Given the description of an element on the screen output the (x, y) to click on. 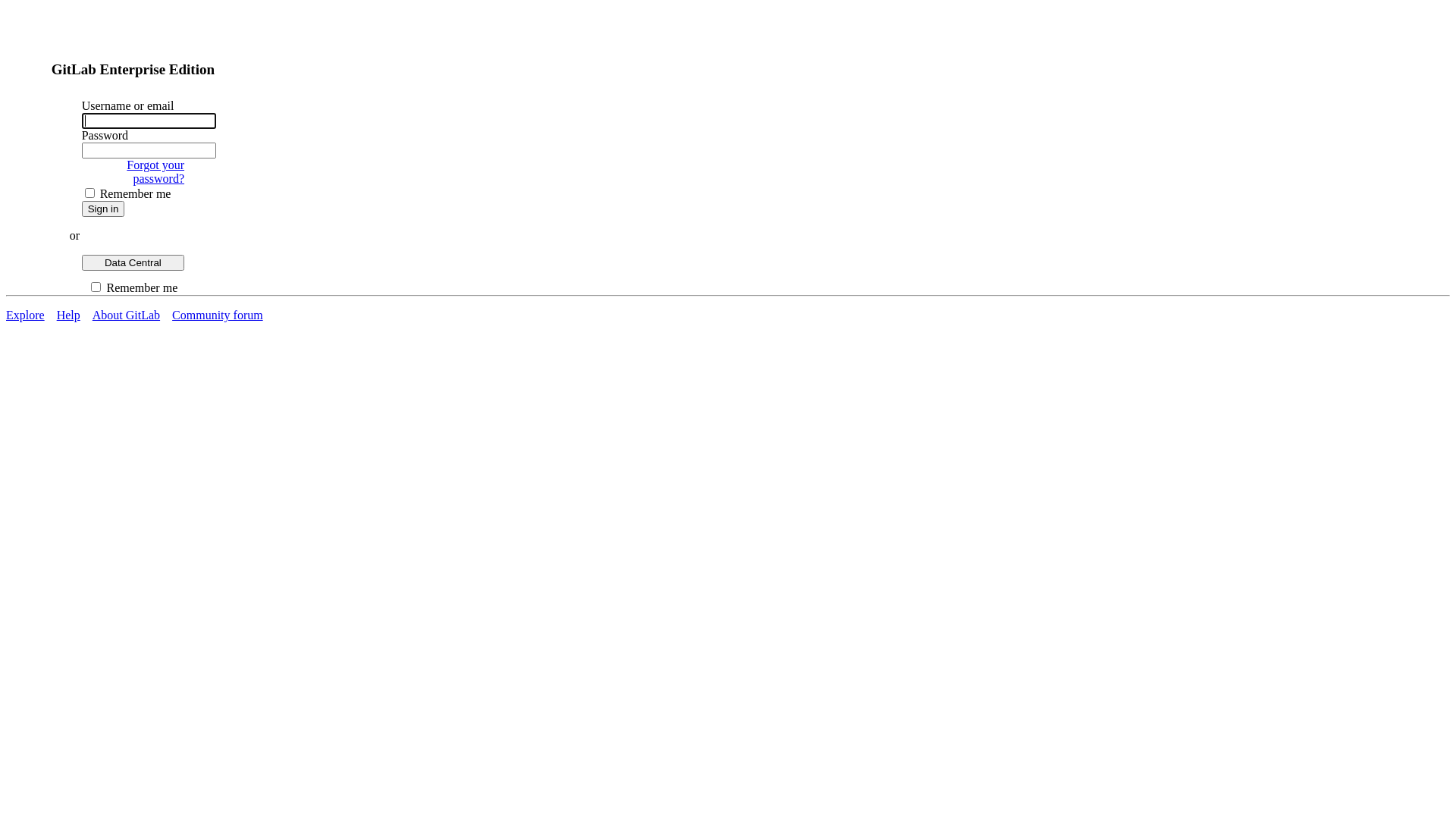
This field is required. Element type: hover (148, 120)
Community forum Element type: text (217, 315)
Help Element type: text (68, 315)
About GitLab Element type: text (126, 315)
Forgot your password? Element type: text (155, 171)
Data Central Element type: text (132, 262)
Sign in Element type: text (103, 208)
Explore Element type: text (25, 315)
